Given the description of an element on the screen output the (x, y) to click on. 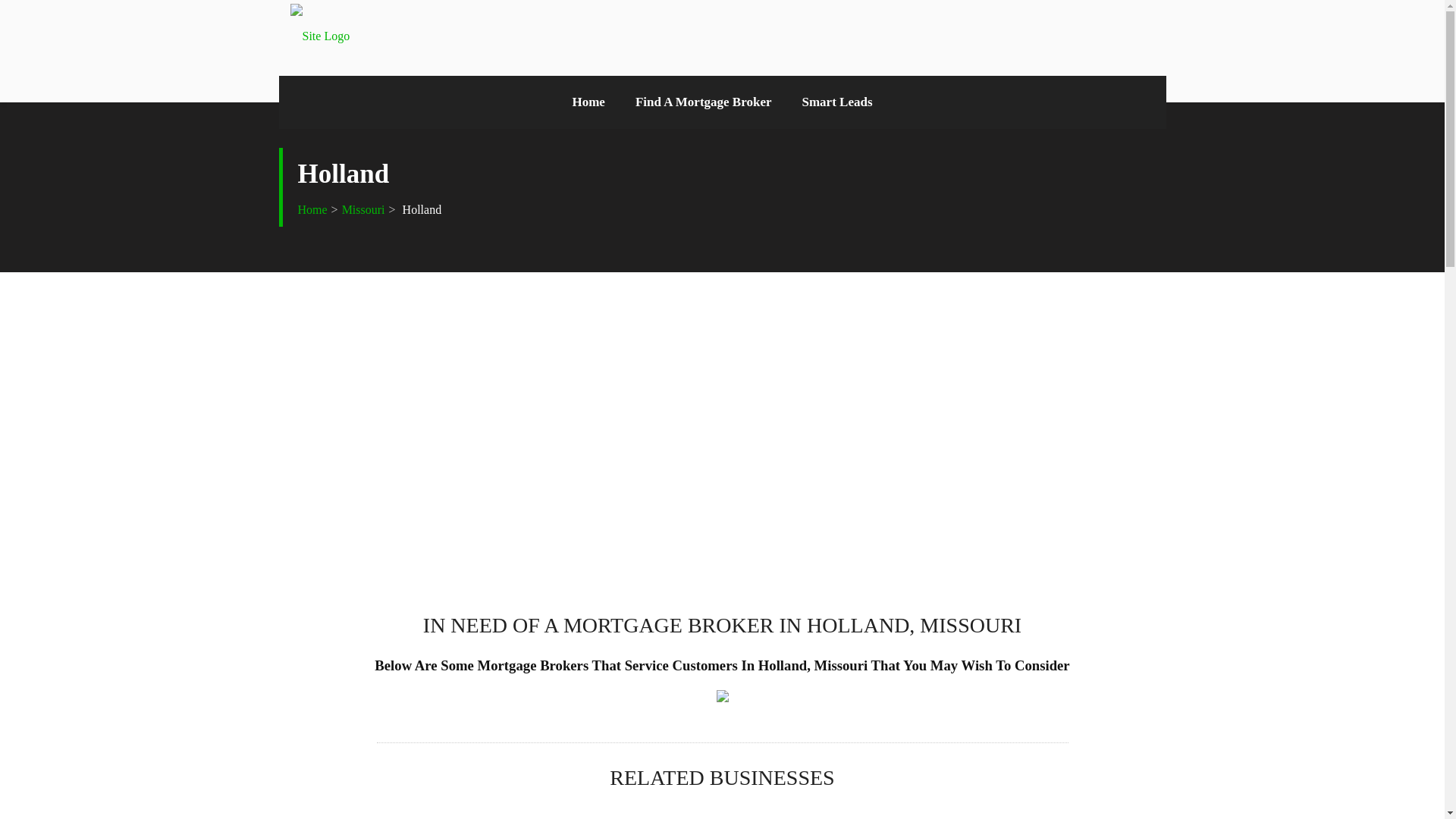
Home (311, 209)
Home (588, 102)
Missouri (363, 209)
Smart Leads (837, 102)
Find A Mortgage Broker (703, 102)
Holland (420, 209)
Home (311, 209)
Missouri (363, 209)
Find a Mortgage Broker (703, 102)
Home (588, 102)
